Given the description of an element on the screen output the (x, y) to click on. 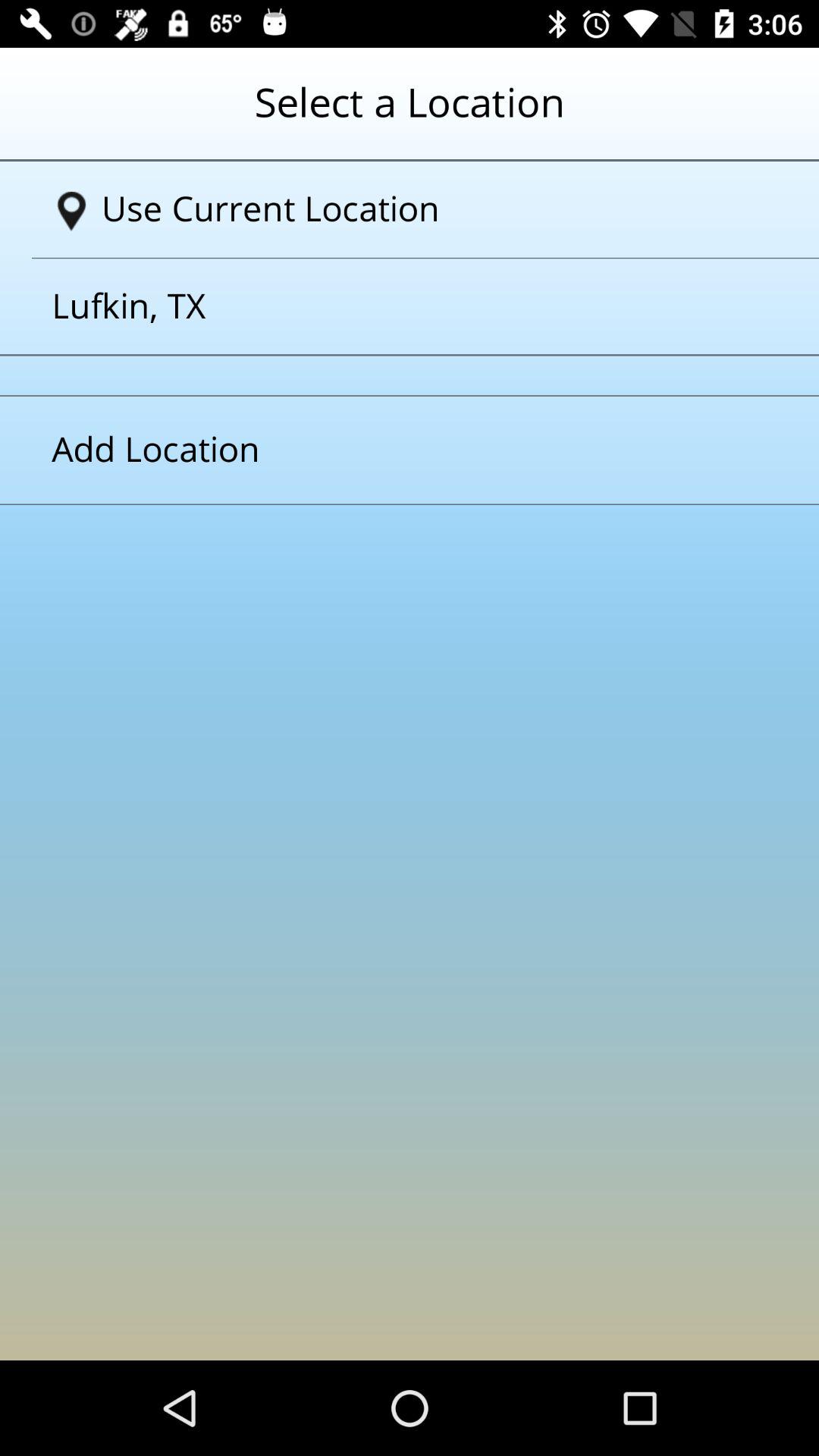
click on lufkin tx (390, 307)
click on the location icon (71, 211)
click on use current location (415, 209)
